Given the description of an element on the screen output the (x, y) to click on. 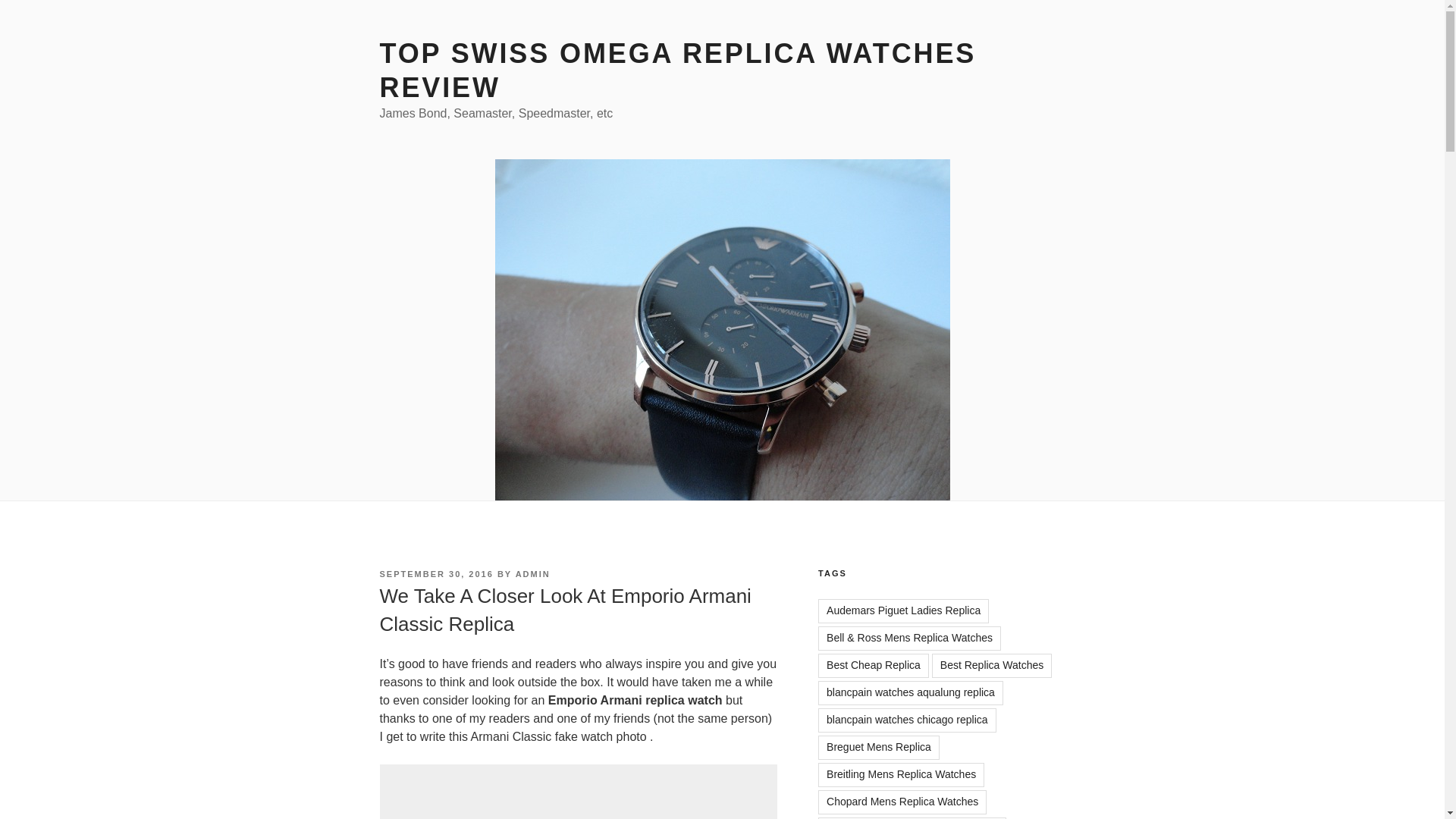
blancpain watches aqualung replica (910, 692)
Audemars Piguet Ladies Replica (903, 610)
Best Replica Watches (991, 665)
TOP SWISS OMEGA REPLICA WATCHES REVIEW (676, 70)
Breguet Mens Replica (878, 747)
SEPTEMBER 30, 2016 (435, 573)
Breitling Mens Replica Watches (901, 774)
Best Cheap Replica (873, 665)
ADMIN (532, 573)
